Given the description of an element on the screen output the (x, y) to click on. 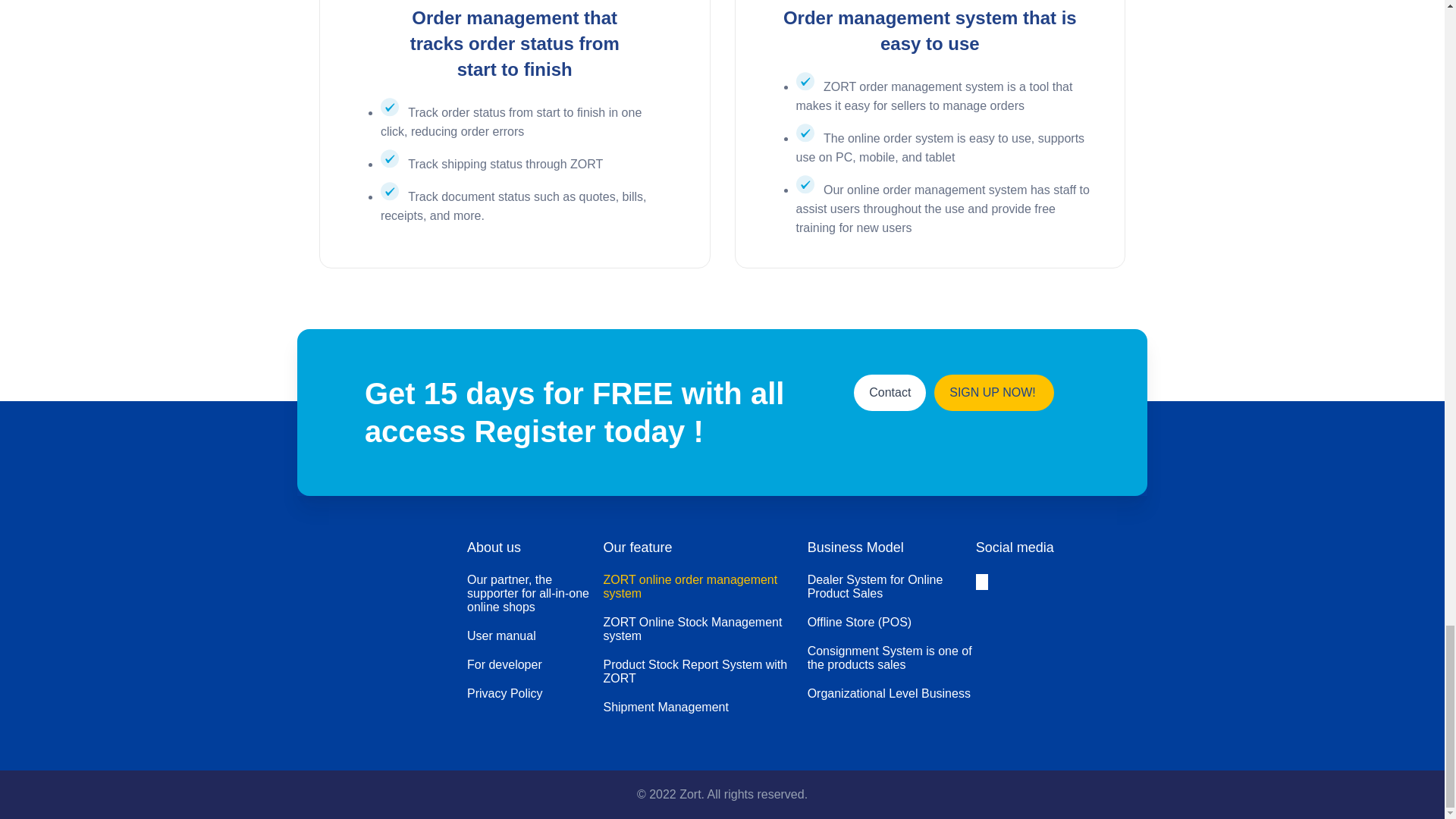
Contact (889, 392)
User manual (534, 635)
Privacy Policy (534, 693)
ZORT online order management system (704, 586)
Shipment Management (704, 706)
SIGN UP NOW! (994, 392)
Product Stock Report System with ZORT (704, 671)
ZORT Online Stock Management system (704, 629)
For developer (534, 664)
Our partner, the supporter for all-in-one online shops (534, 593)
